Given the description of an element on the screen output the (x, y) to click on. 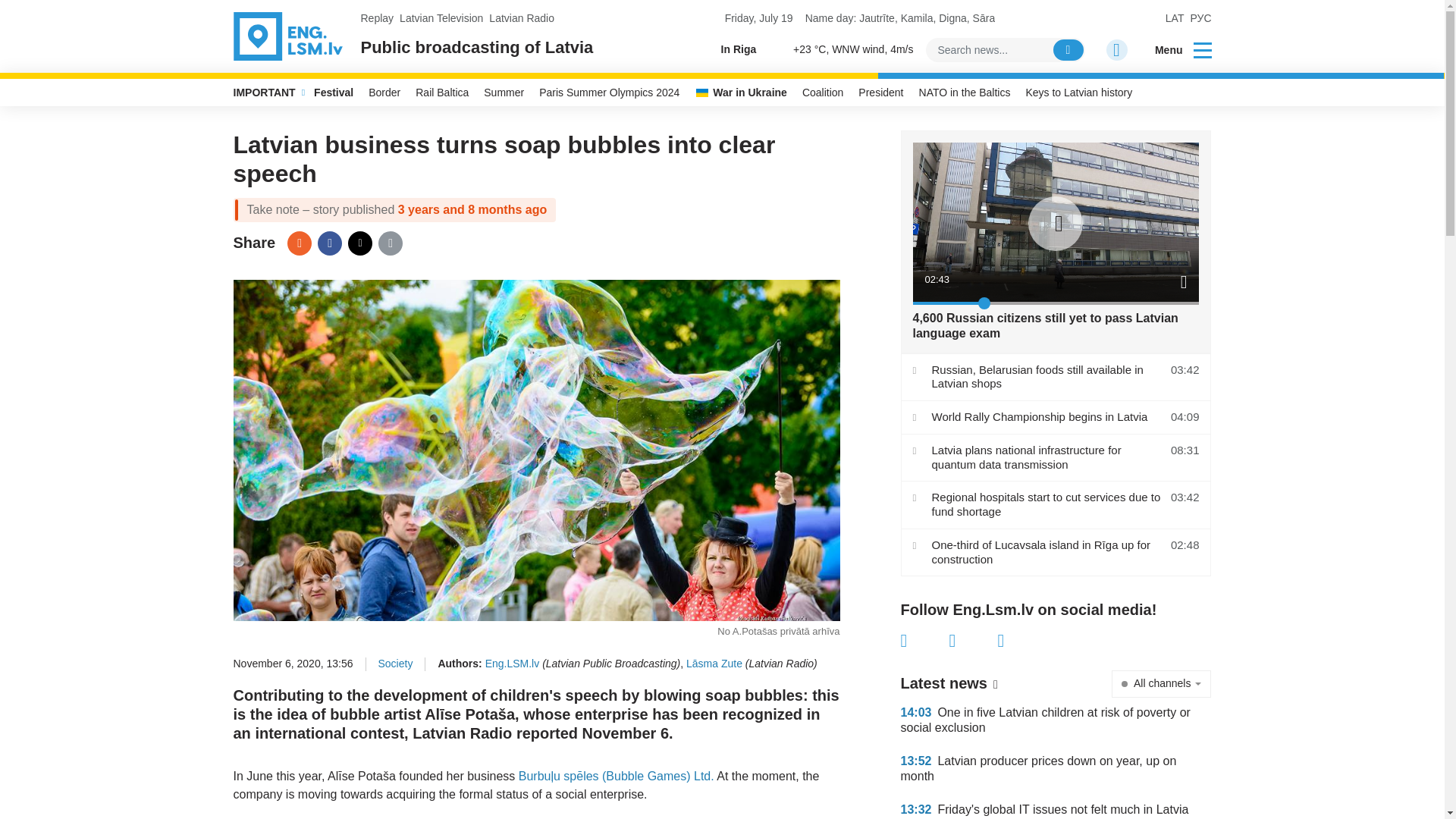
X (359, 242)
Facebook (329, 242)
President (880, 92)
War in Ukraine (740, 92)
Rail Baltica (441, 92)
LAT (1175, 18)
Summer (503, 92)
Menu (1173, 50)
Latvian Radio (521, 18)
Coalition (822, 92)
Border (384, 92)
X (973, 640)
Topics (1202, 49)
Linkedin (1021, 640)
Replay (377, 18)
